Given the description of an element on the screen output the (x, y) to click on. 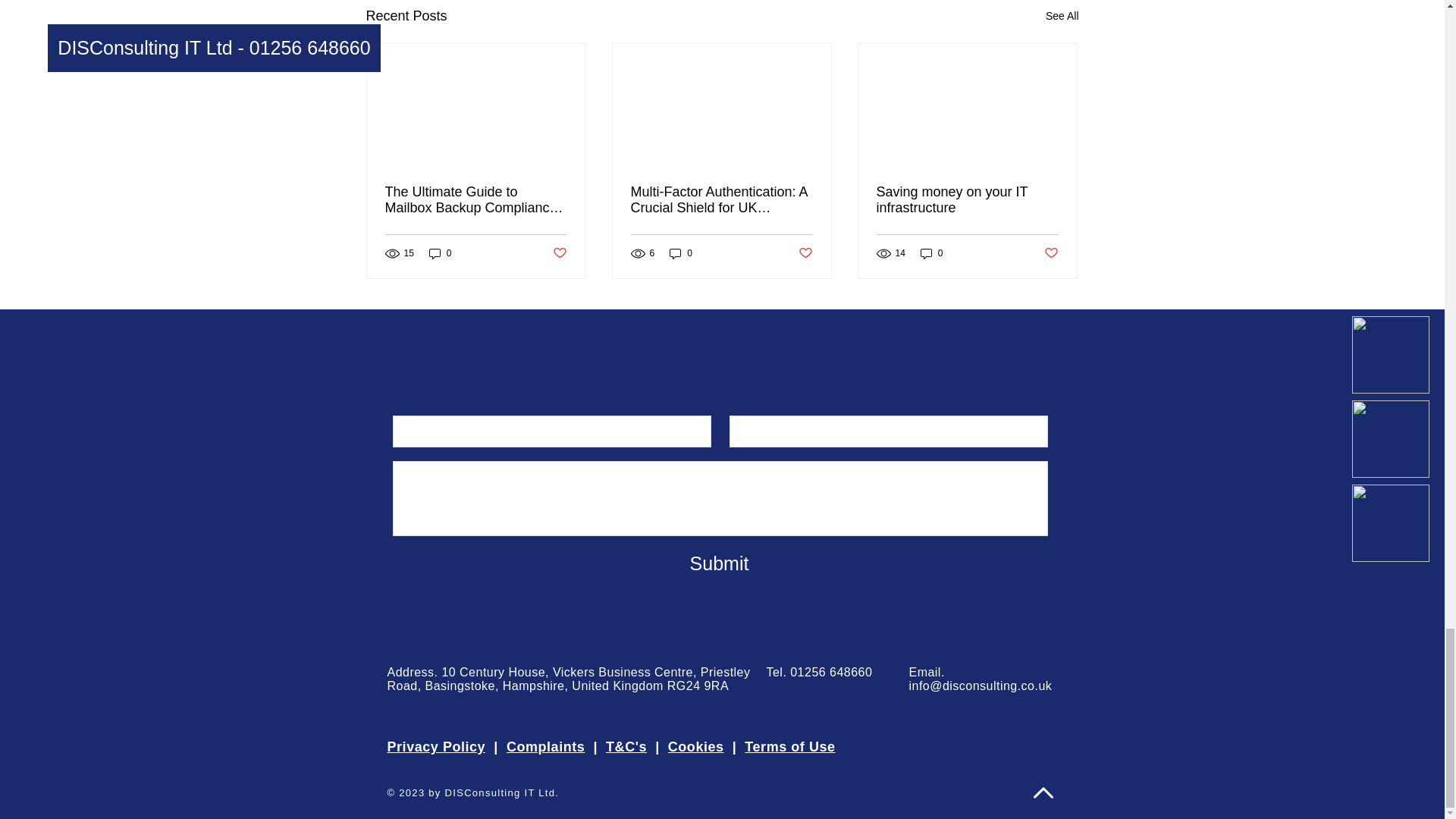
0 (440, 253)
Post not marked as liked (804, 253)
Post not marked as liked (558, 253)
0 (681, 253)
See All (1061, 15)
Privacy Policy (435, 746)
0 (931, 253)
Complaints (545, 746)
Post not marked as liked (1050, 253)
Saving money on your IT infrastructure (967, 200)
